Given the description of an element on the screen output the (x, y) to click on. 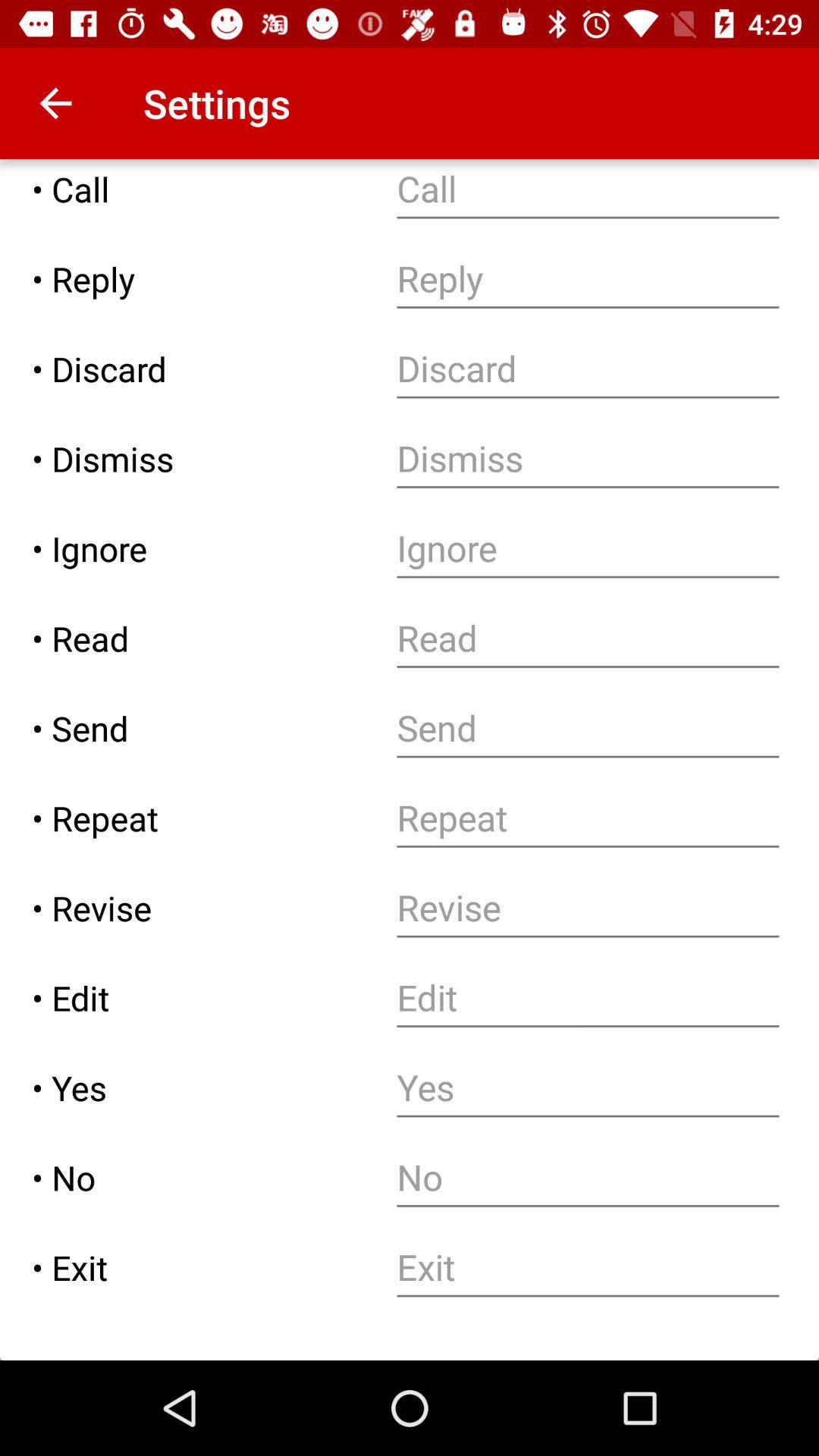
ignore option (588, 548)
